Given the description of an element on the screen output the (x, y) to click on. 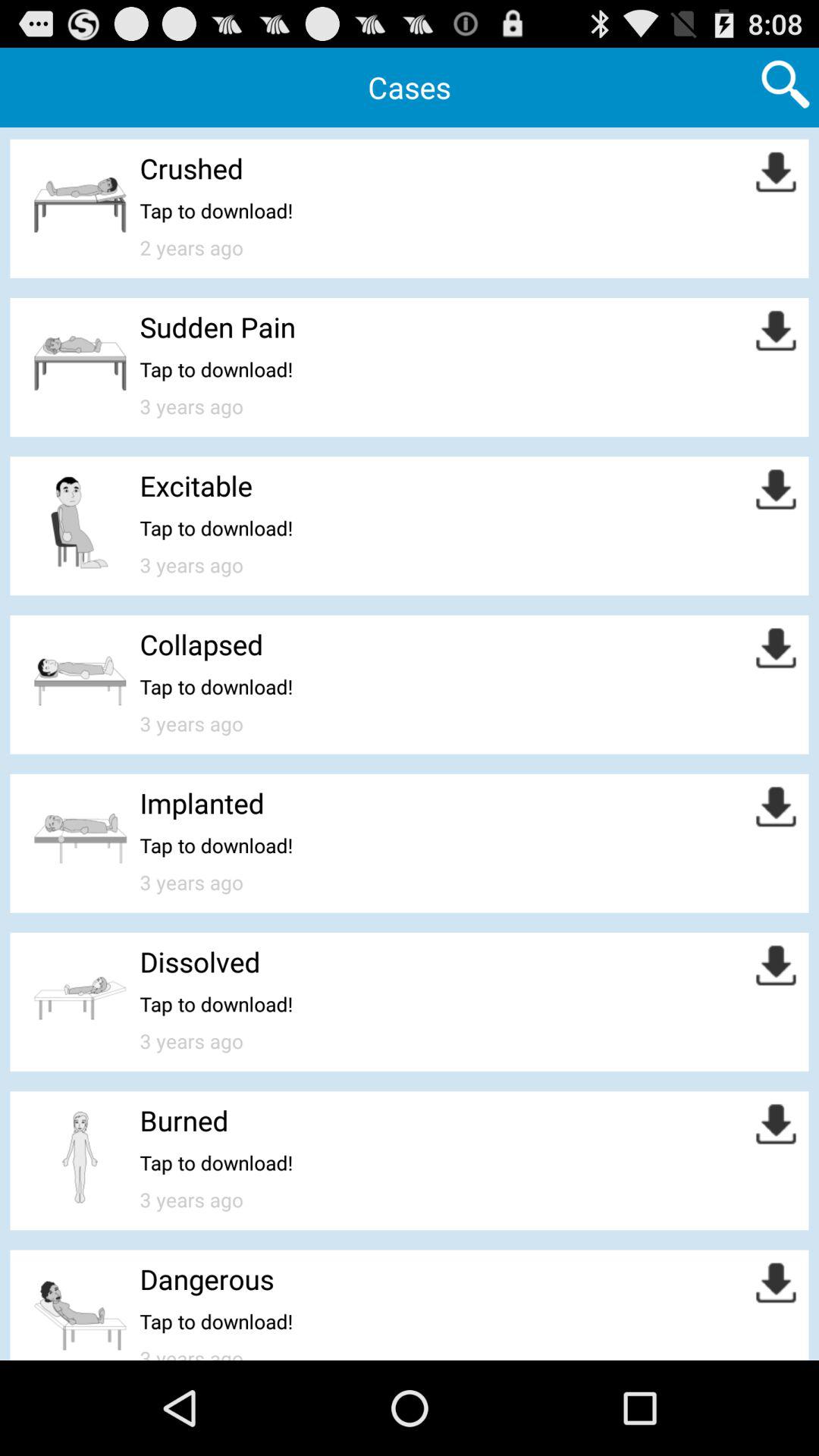
swipe to dissolved (199, 961)
